Given the description of an element on the screen output the (x, y) to click on. 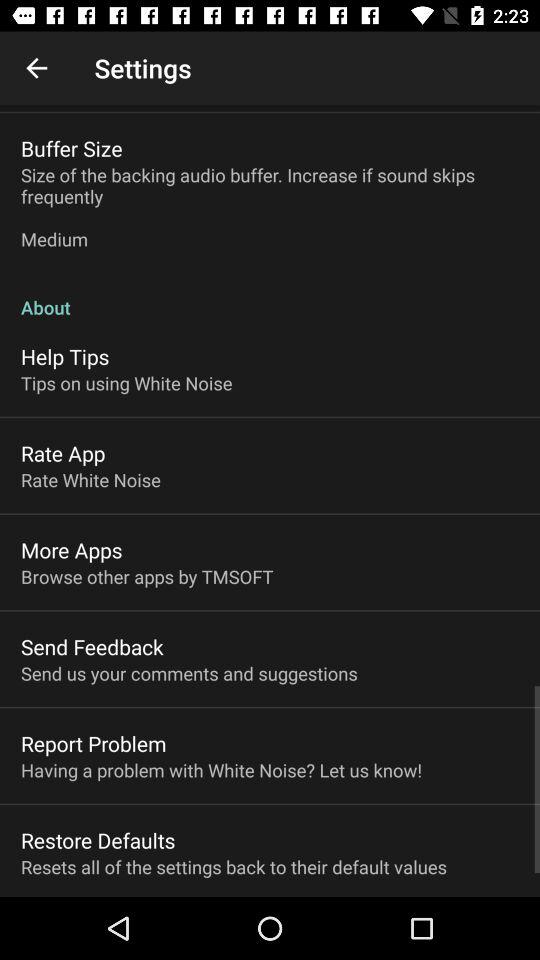
launch the item above the help tips (270, 296)
